Given the description of an element on the screen output the (x, y) to click on. 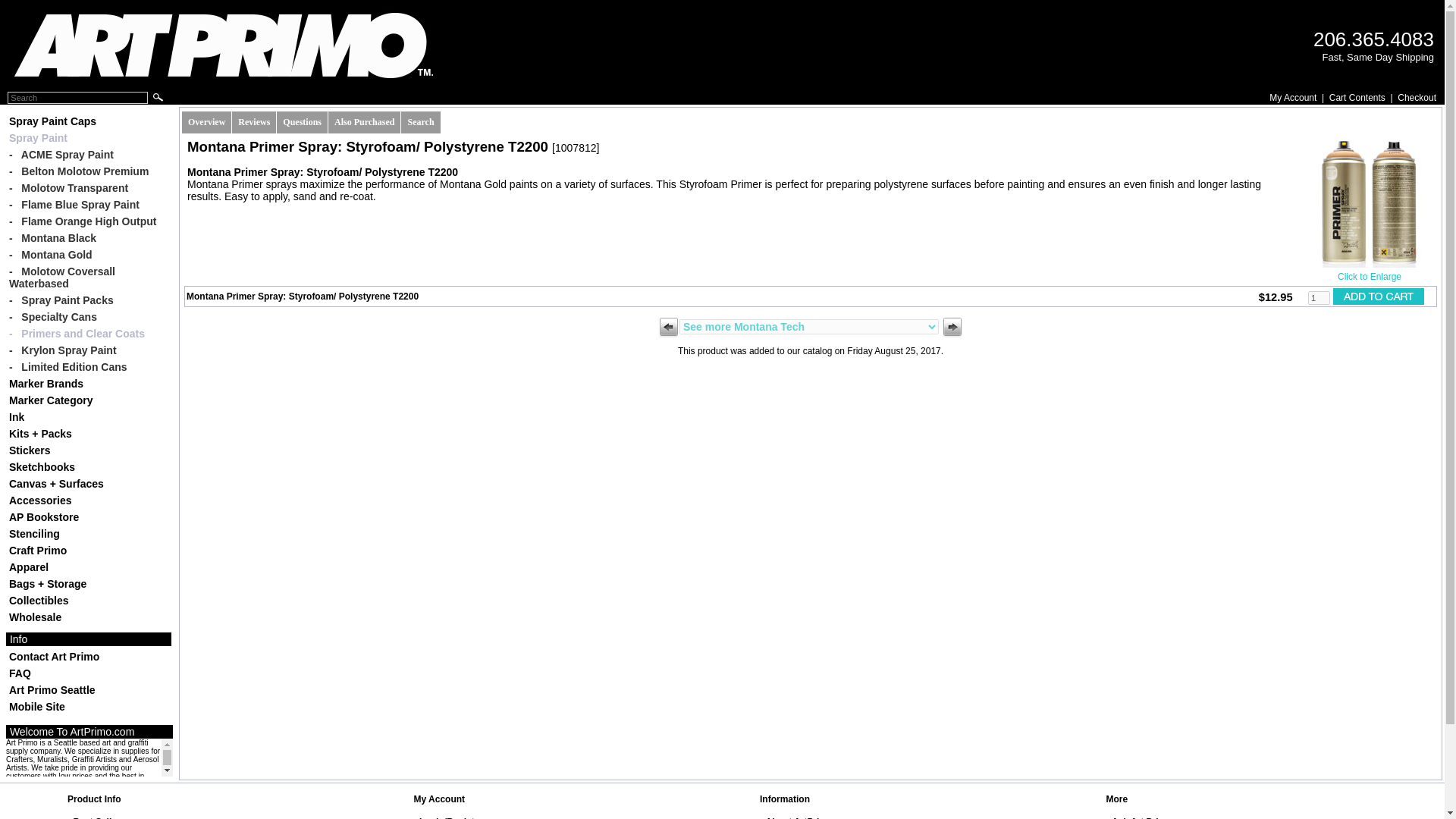
-   Montana Black (88, 237)
1 (1318, 297)
Reviews (253, 122)
 shop for graffiti supplies - ArtPrimo.com graffiti store  (223, 45)
Spray Paint (88, 137)
-   Belton Molotow Premium (88, 171)
Marker Brands (88, 383)
Checkout (1416, 97)
-   Montana Gold (88, 254)
Flame Blue Spray Paint (88, 204)
-   Flame Orange High Output (88, 221)
-   Limited Edition Cans (88, 366)
-   Specialty Cans (88, 316)
Ink (88, 417)
Molotow Coversall Waterbased (88, 277)
